Given the description of an element on the screen output the (x, y) to click on. 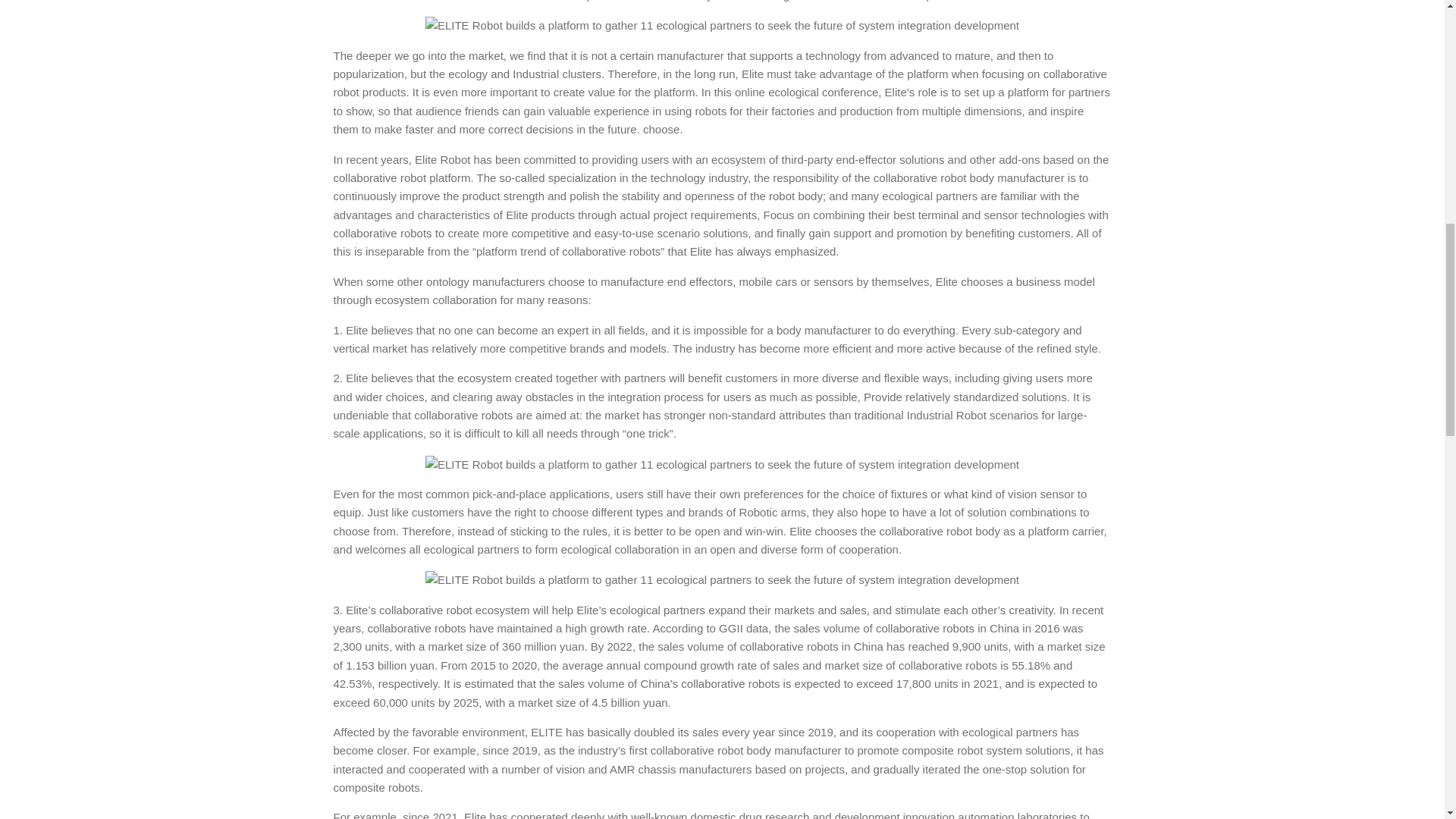
Industrial Robot (947, 414)
Industrial (535, 73)
artificial intelligence (764, 0)
artificial intelligence (764, 0)
market (485, 55)
Robot (346, 91)
Robotic (758, 512)
